Given the description of an element on the screen output the (x, y) to click on. 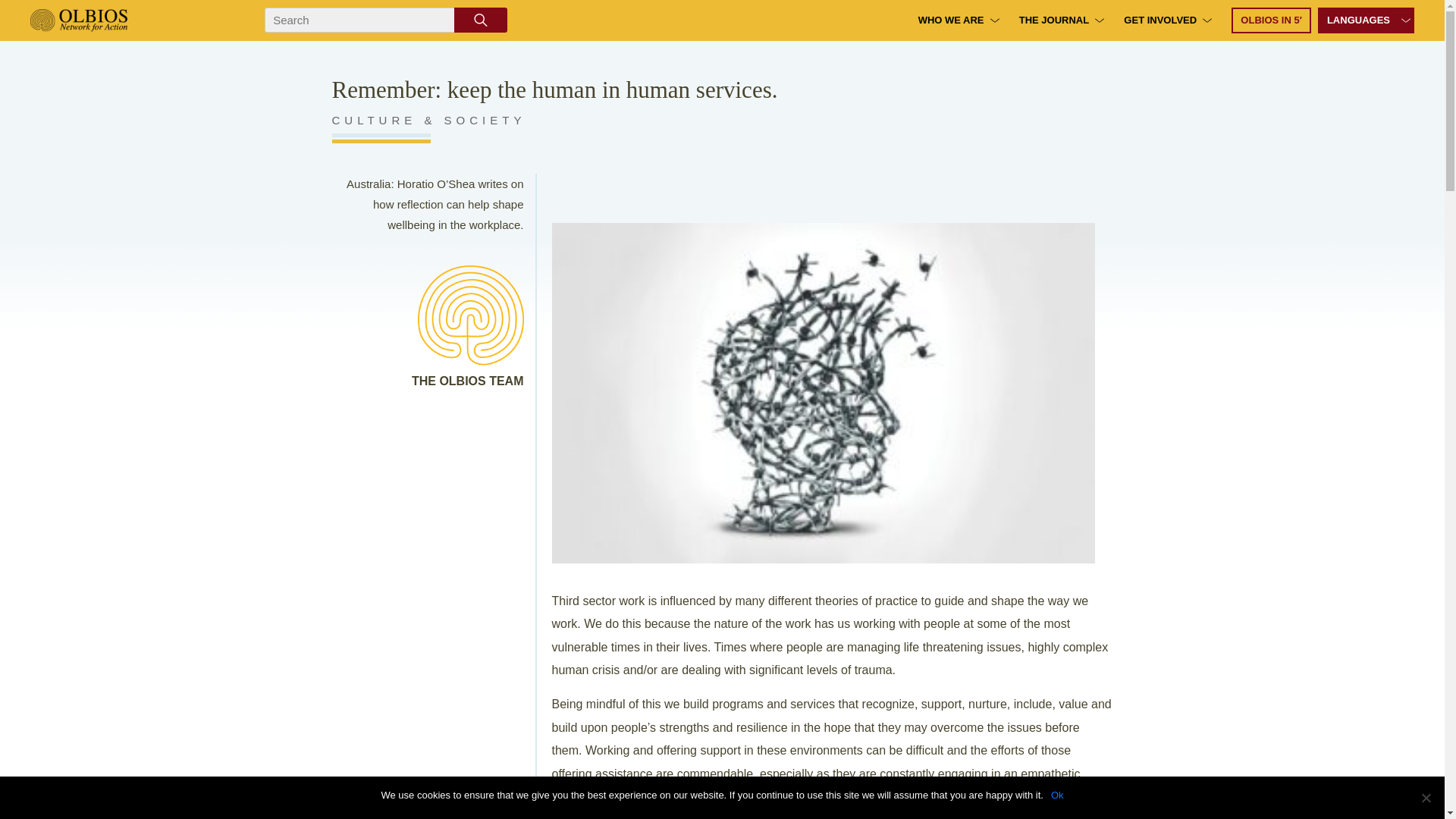
WHO WE ARE (951, 20)
THE JOURNAL (1054, 20)
No (1425, 797)
